Given the description of an element on the screen output the (x, y) to click on. 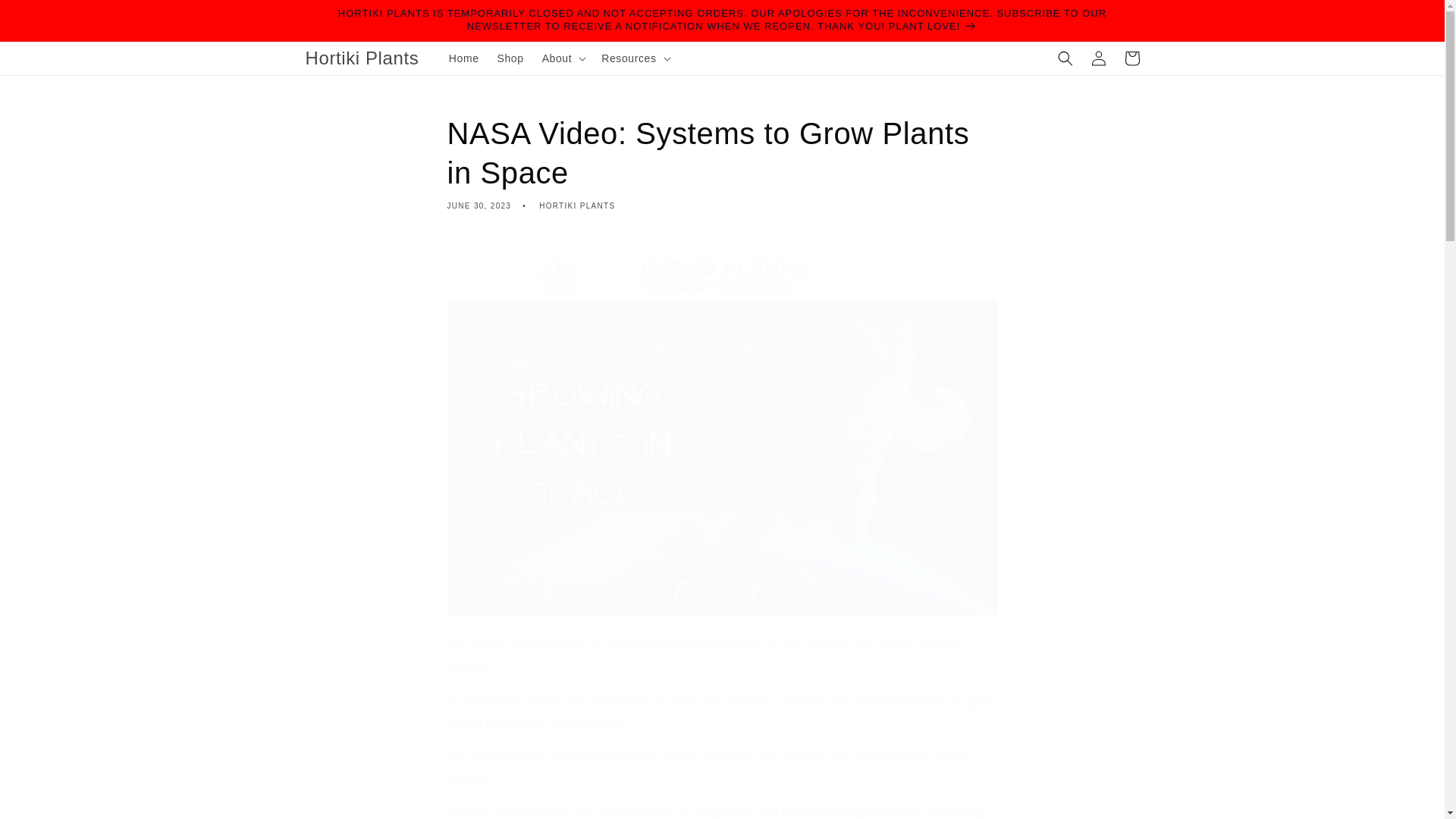
Cart (1131, 58)
Skip to content (45, 17)
Home (463, 58)
Log in (1098, 58)
Shop (509, 58)
Hortiki Plants (362, 57)
